Given the description of an element on the screen output the (x, y) to click on. 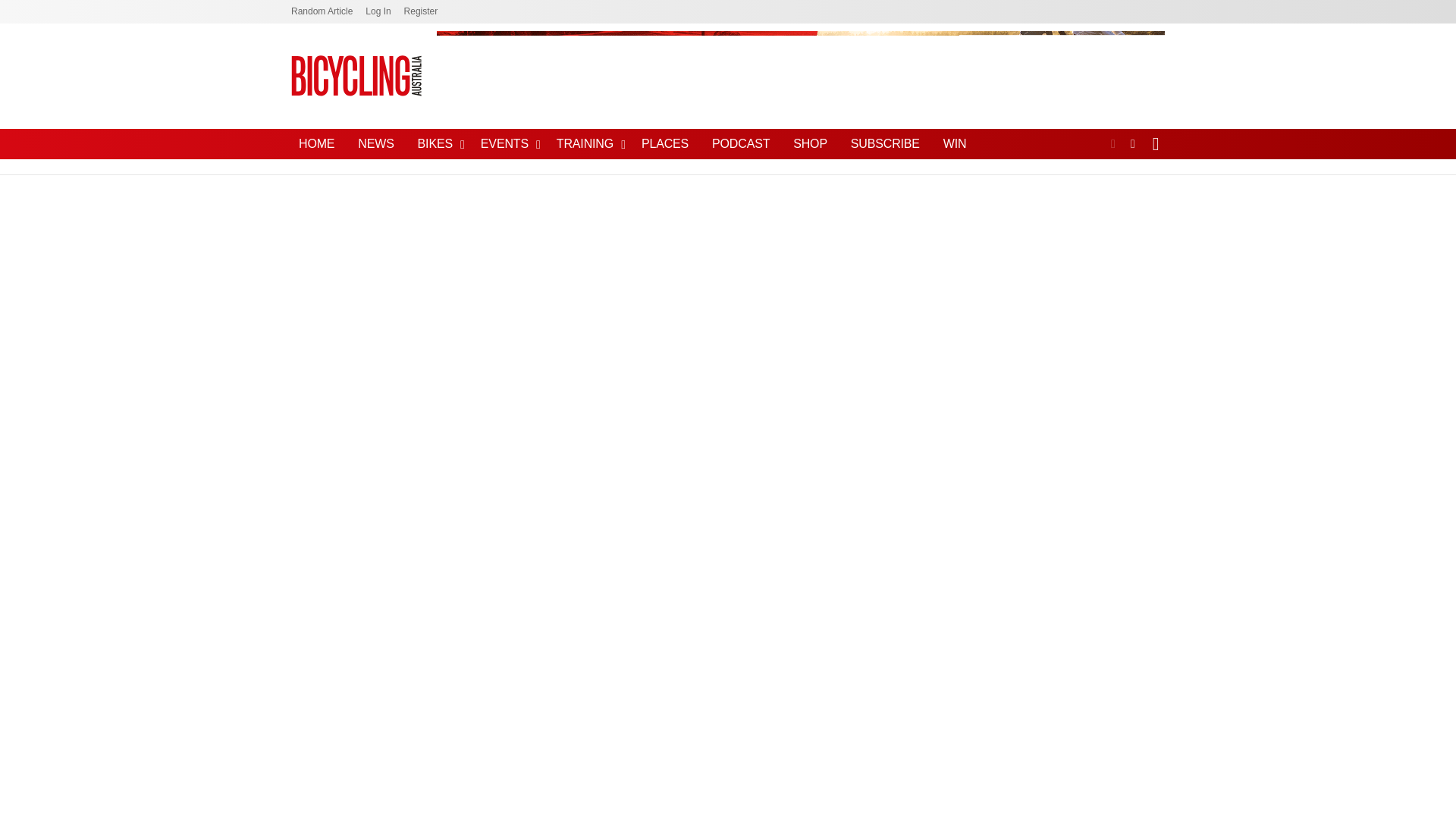
BIKES (437, 144)
NEWS (375, 144)
EVENTS (506, 144)
SUBSCRIBE (885, 144)
Log In (377, 11)
TRAINING (587, 144)
Register (421, 11)
WIN (955, 144)
PODCAST (740, 144)
